Given the description of an element on the screen output the (x, y) to click on. 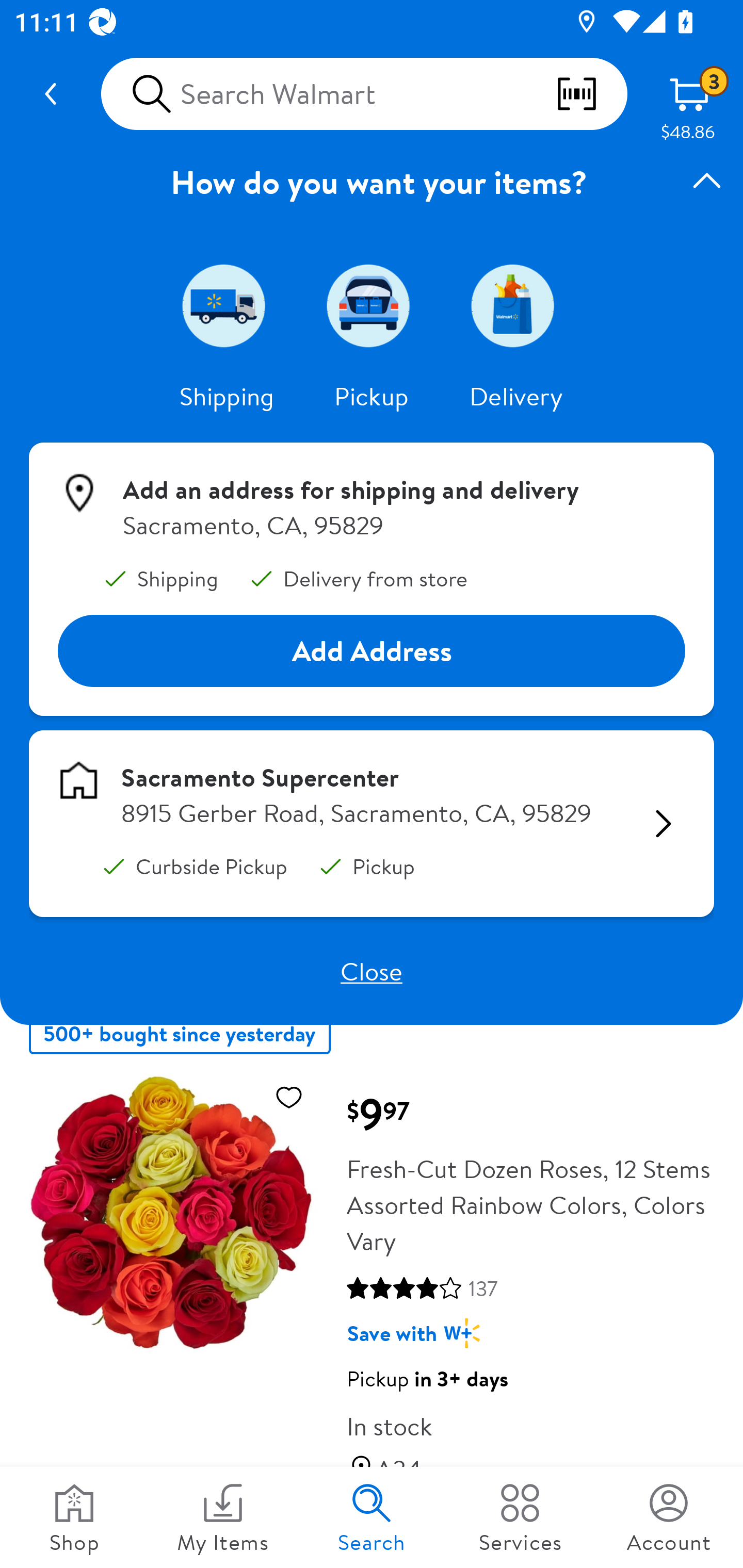
Navigate up (50, 93)
Search Walmart scan barcodes qr codes and more (364, 94)
scan barcodes qr codes and more (591, 94)
How do you want your items? expanded (371, 181)
Shipping 1 of 3 (226, 305)
Pickup 2 of 3 (371, 305)
Delivery 3 of 3 (515, 305)
Add Address (371, 650)
Close (371, 970)
Shop (74, 1517)
My Items (222, 1517)
Services (519, 1517)
Account (668, 1517)
